Given the description of an element on the screen output the (x, y) to click on. 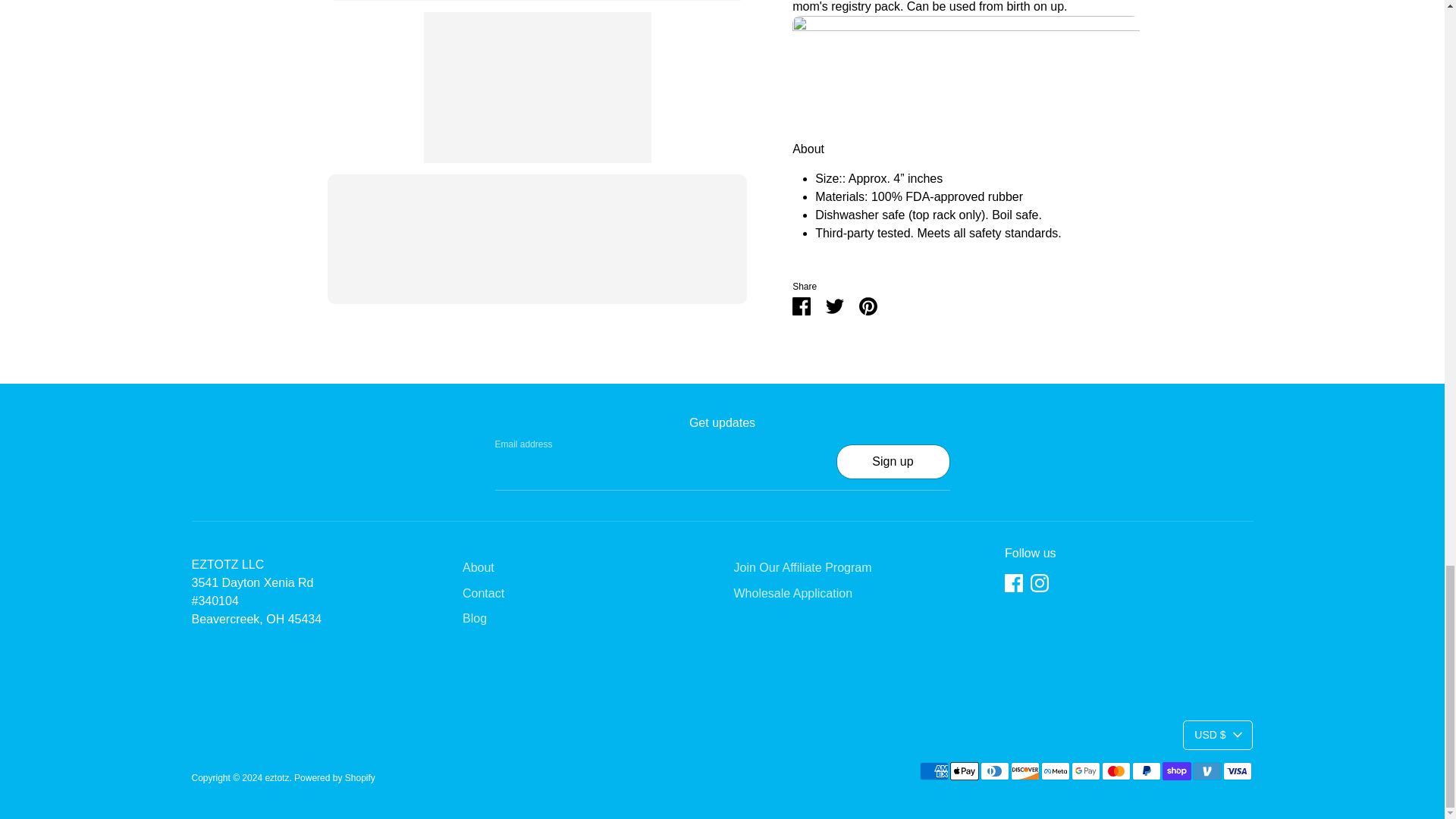
Discover (1024, 771)
Diners Club (994, 771)
Apple Pay (963, 771)
American Express (932, 771)
Google Pay (1084, 771)
Meta Pay (1054, 771)
